Given the description of an element on the screen output the (x, y) to click on. 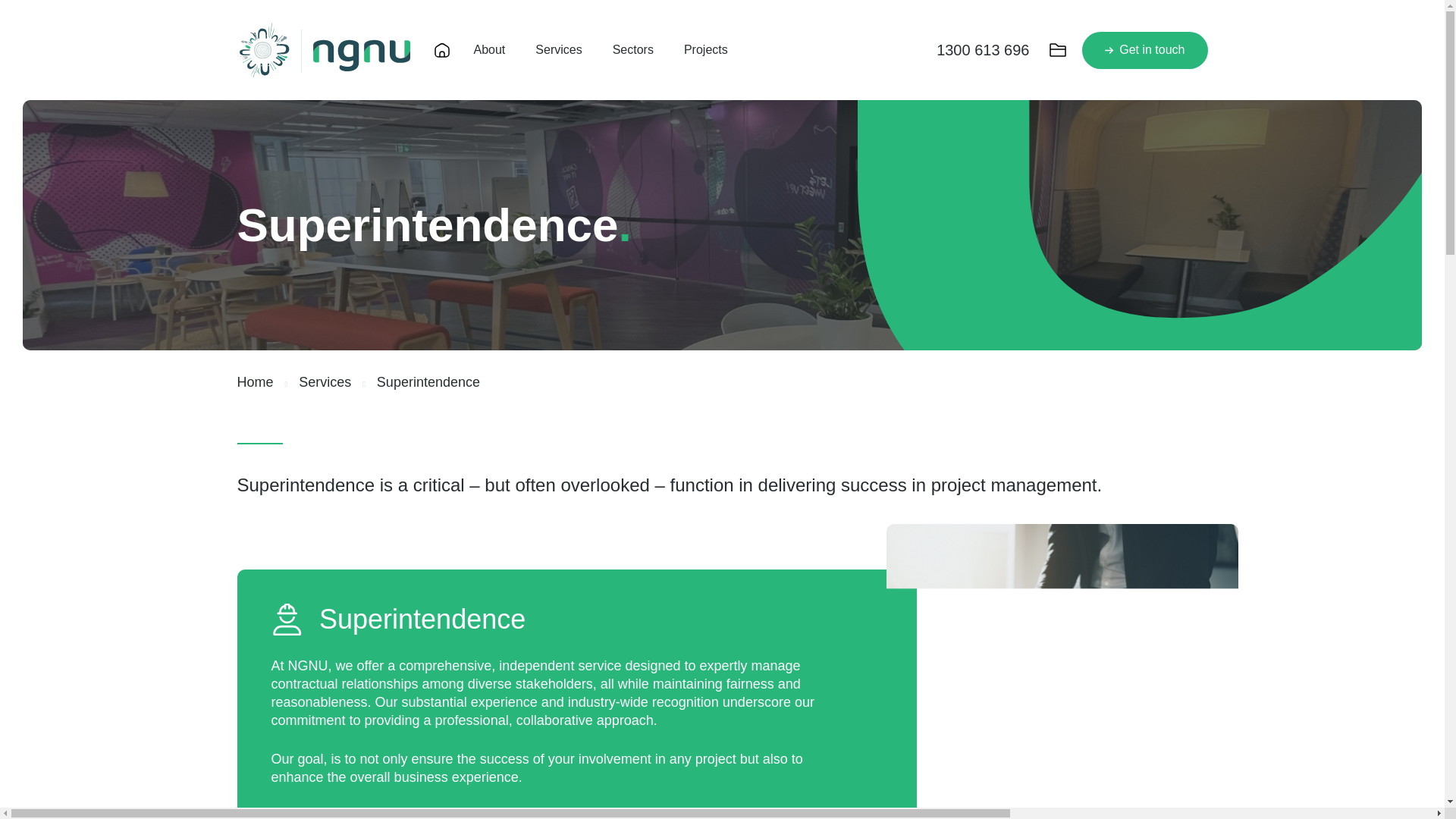
Projects (706, 49)
Services (324, 382)
Services (557, 49)
Home (254, 382)
Sectors (632, 49)
About (489, 49)
